Given the description of an element on the screen output the (x, y) to click on. 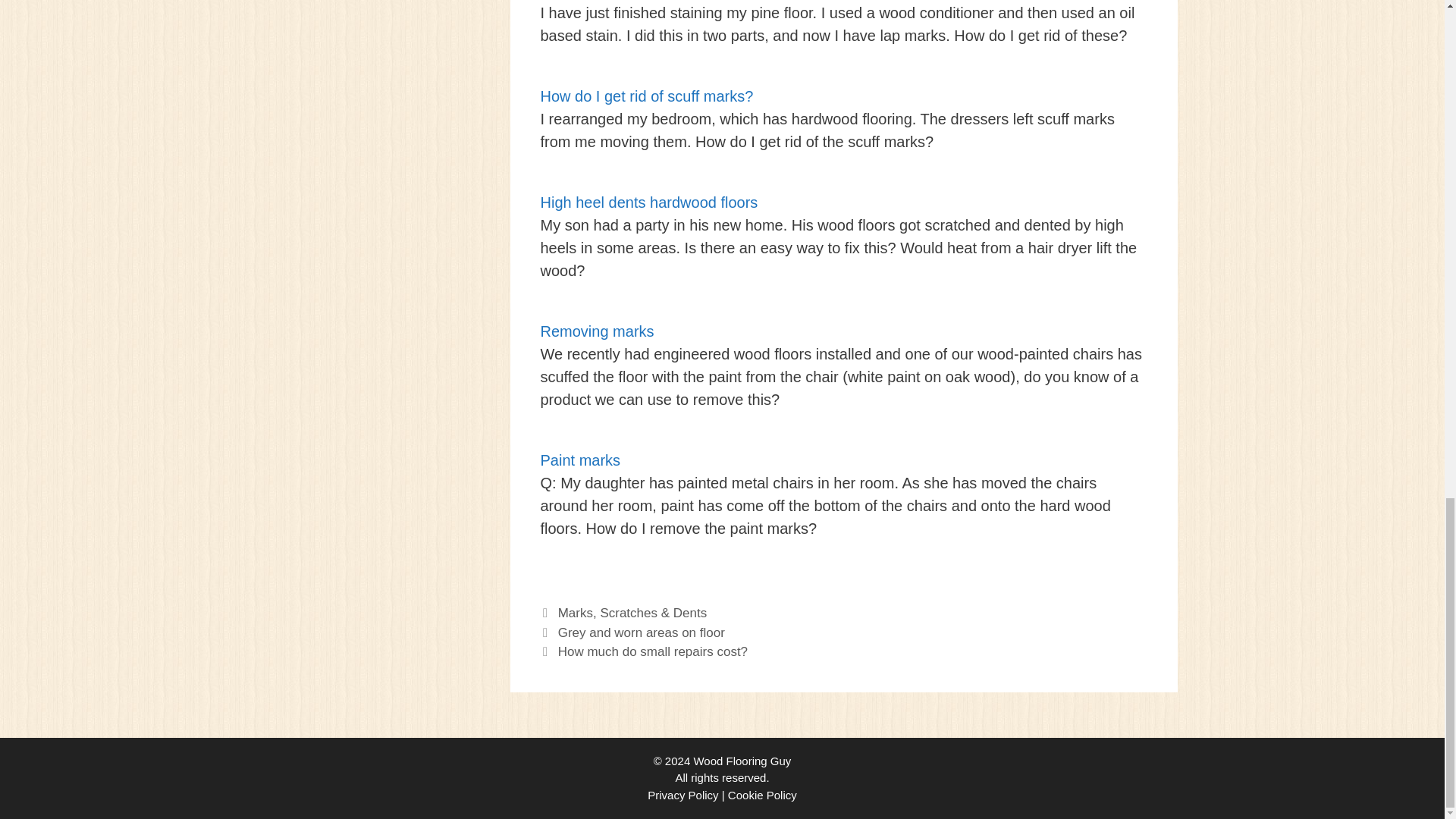
Scroll back to top (1406, 249)
